Given the description of an element on the screen output the (x, y) to click on. 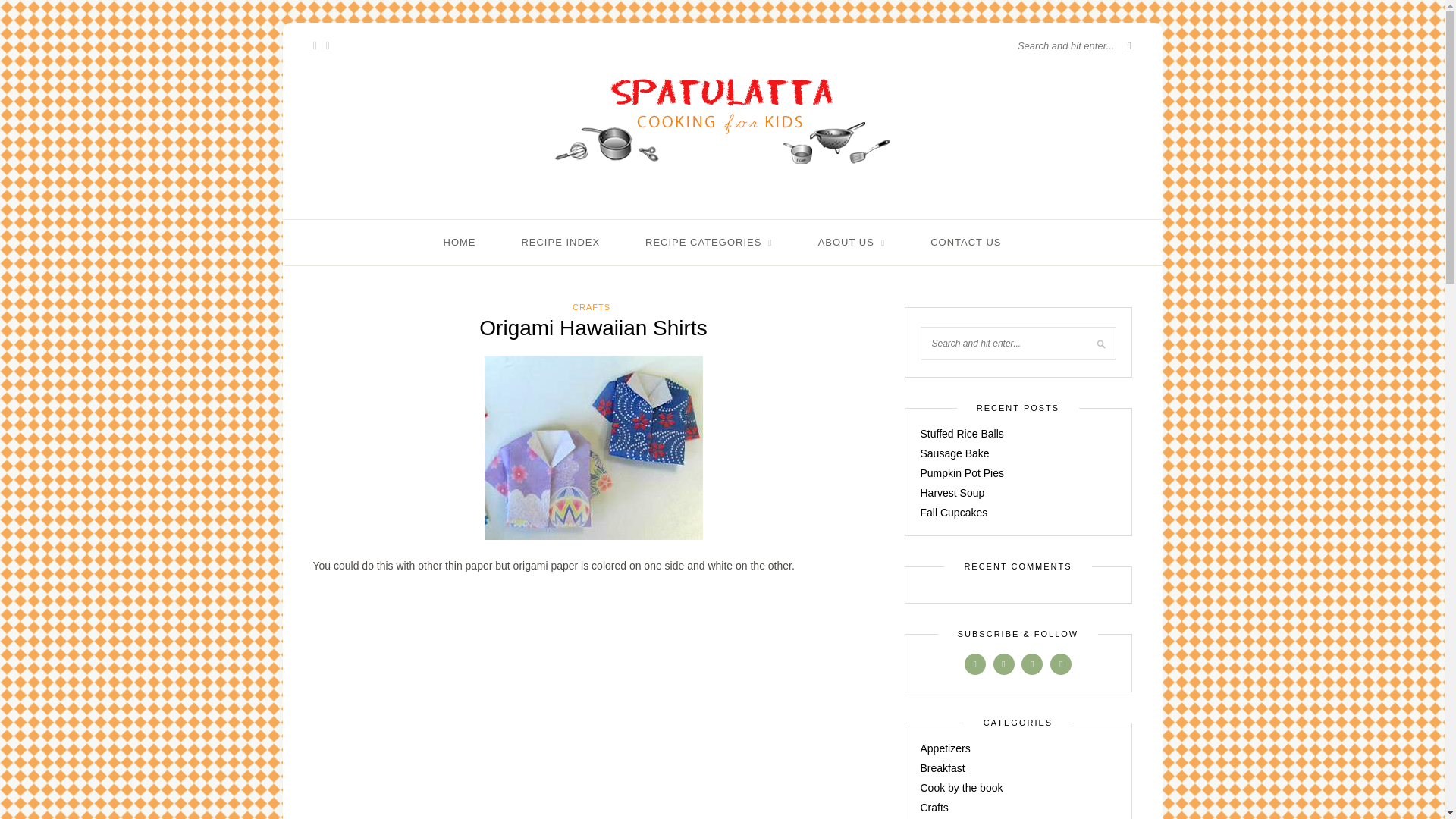
RECIPE CATEGORIES (709, 242)
CONTACT US (965, 242)
CRAFTS (591, 307)
RECIPE INDEX (560, 242)
ABOUT US (851, 242)
Origami Shirts (433, 714)
HOME (460, 242)
